Given the description of an element on the screen output the (x, y) to click on. 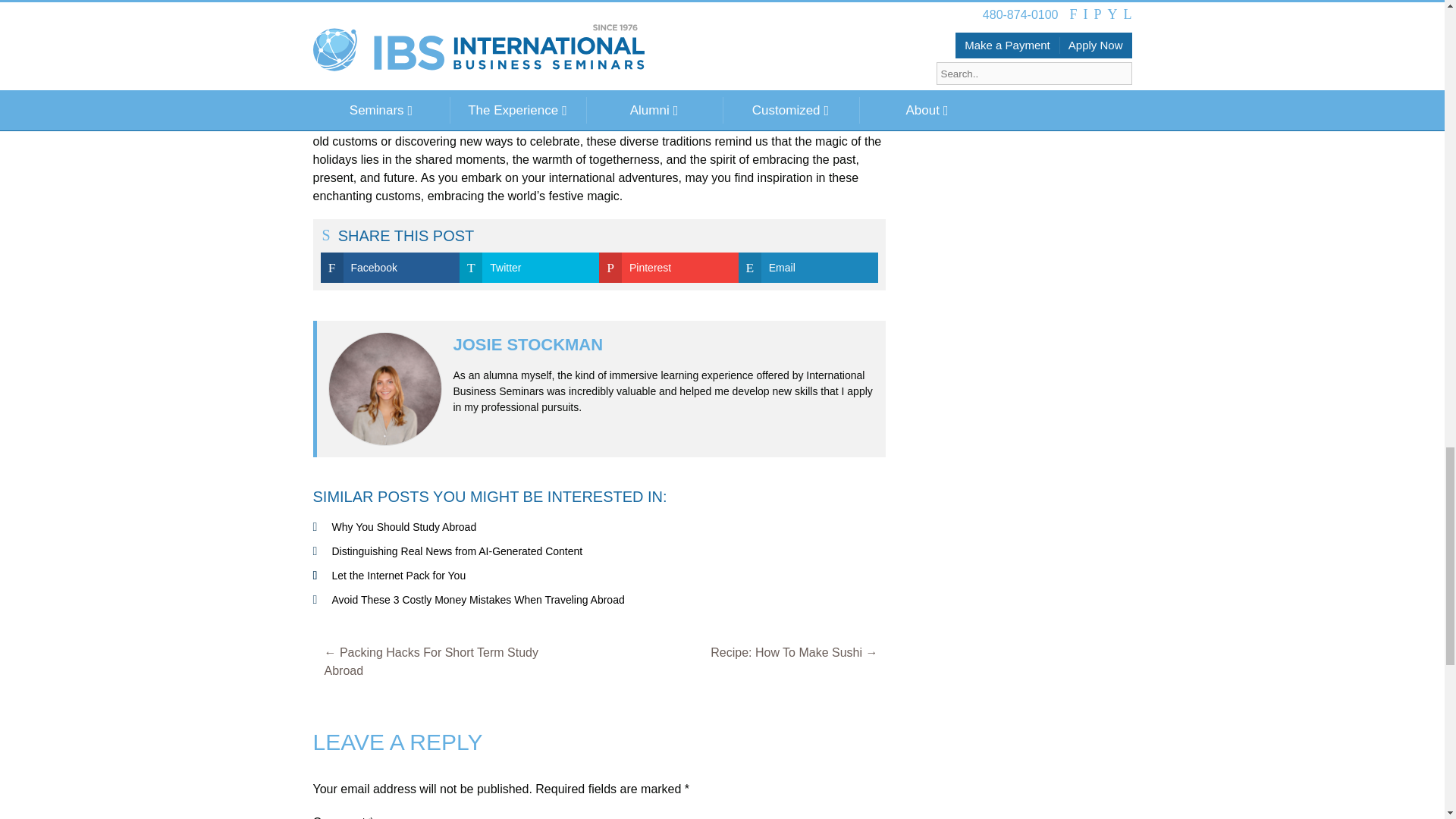
Avoid These 3 Costly Money Mistakes When Traveling Abroad (477, 599)
Distinguishing Real News from AI-Generated Content (457, 551)
Why You Should Study Abroad (404, 526)
Let the Internet Pack for You (398, 575)
